Given the description of an element on the screen output the (x, y) to click on. 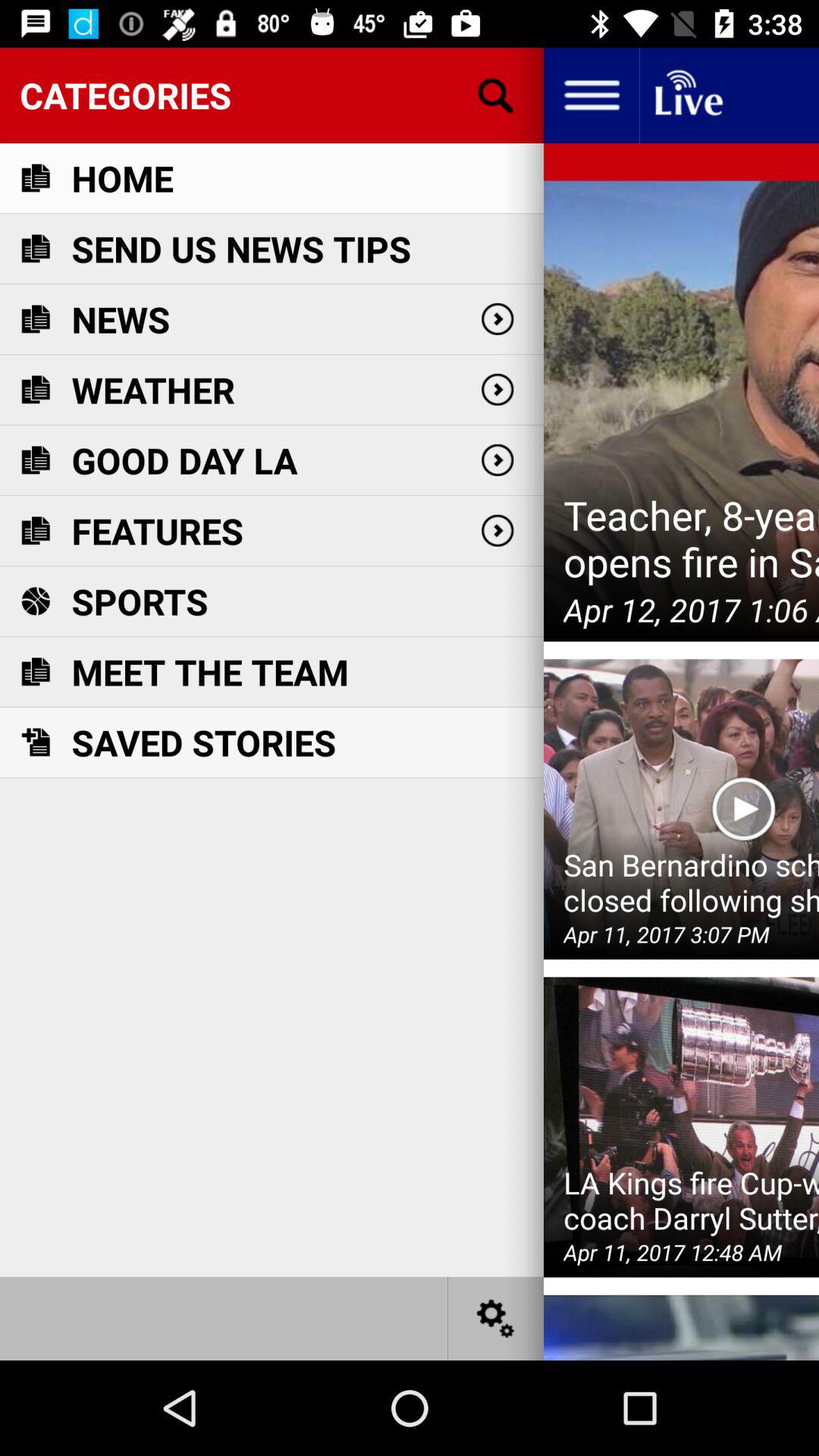
flip until good day la (184, 460)
